Given the description of an element on the screen output the (x, y) to click on. 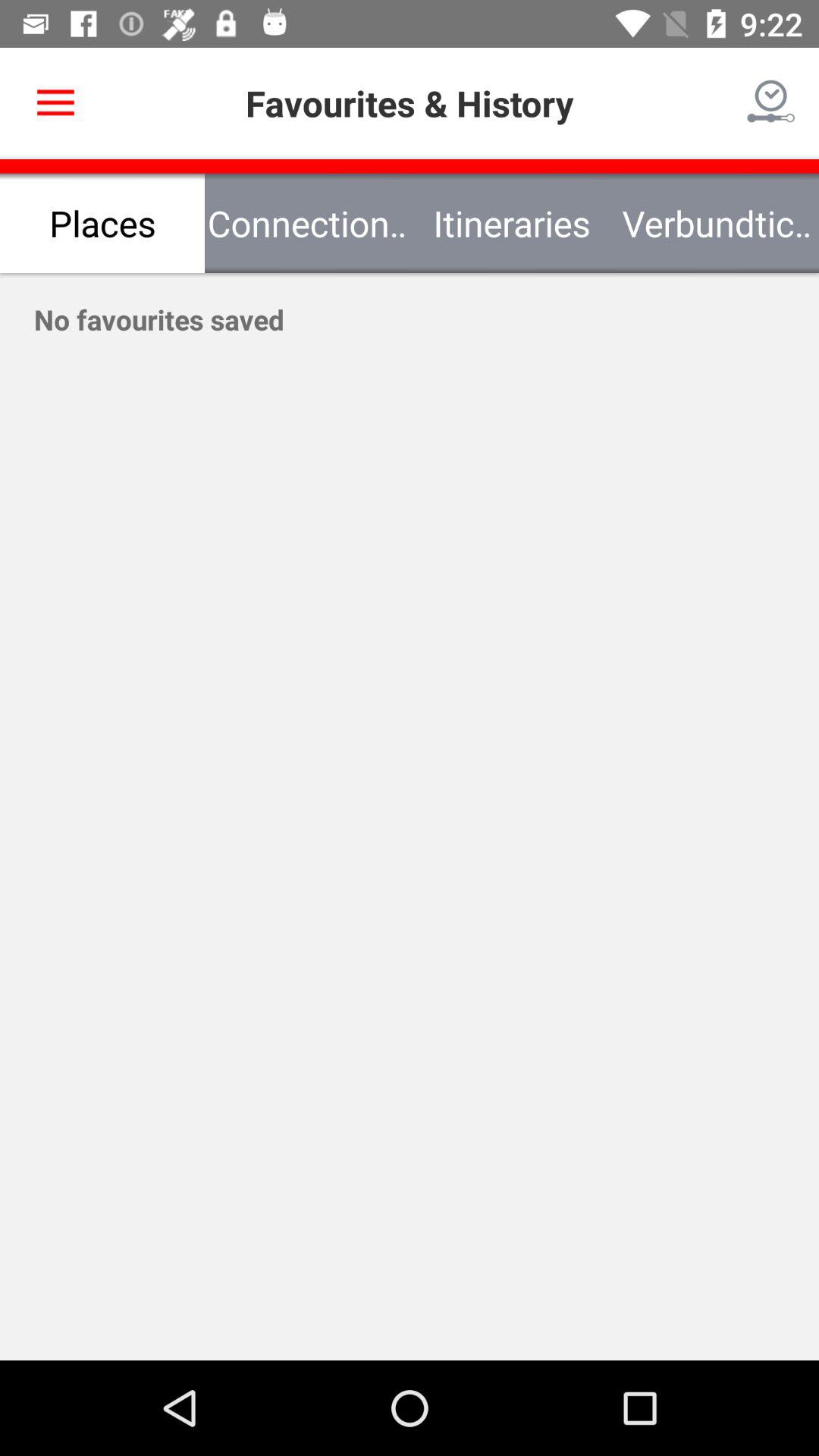
turn off icon to the left of itineraries (306, 223)
